Given the description of an element on the screen output the (x, y) to click on. 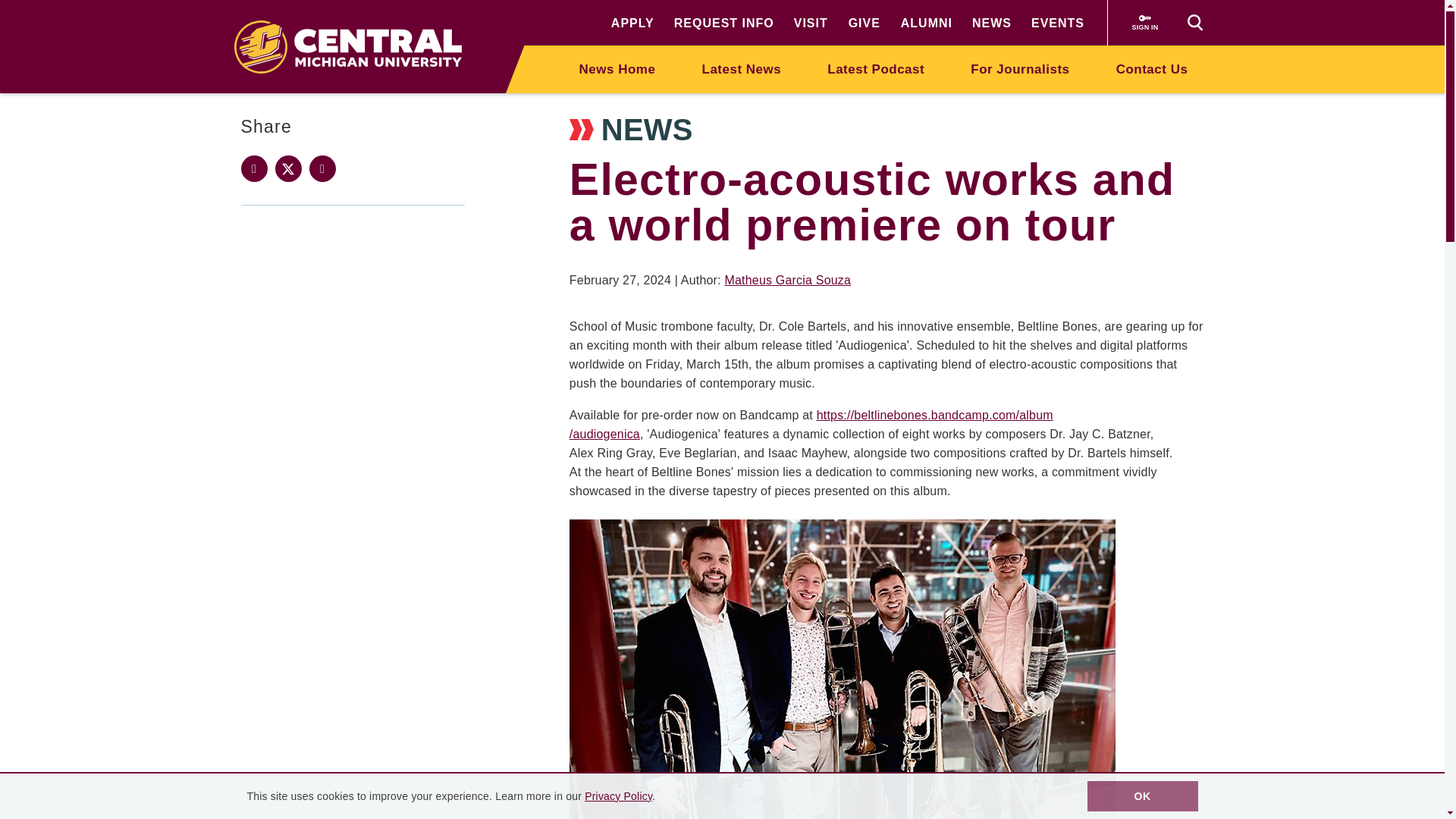
NEWS (991, 23)
Share this page on Facebook (254, 168)
For Journalists (1019, 68)
Privacy Policy (618, 796)
APPLY (632, 23)
Latest Podcast (875, 68)
Latest News (741, 68)
News Home (617, 68)
EVENTS (1057, 23)
Share this page on Twitter (288, 168)
Matheus Garcia Souza (786, 279)
OK (1142, 796)
SIGN IN (1145, 22)
ALUMNI (926, 23)
